Given the description of an element on the screen output the (x, y) to click on. 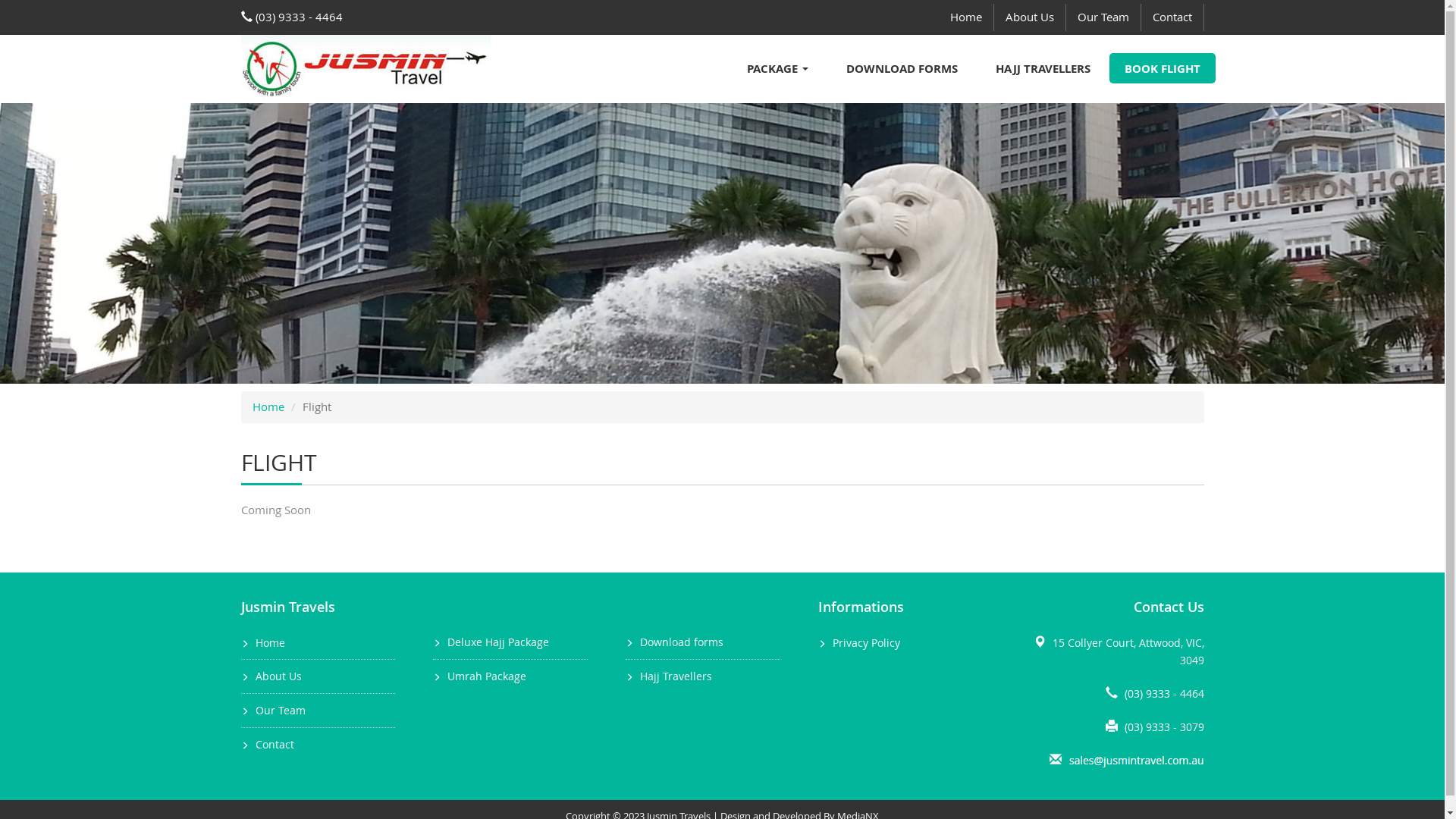
(03) 9333 - 4464 Element type: text (291, 16)
DOWNLOAD FORMS Element type: text (900, 67)
Home Element type: text (269, 642)
Contact Element type: text (1171, 17)
Umrah Package Element type: text (486, 675)
Our Team Element type: text (1103, 17)
(03) 9333 - 4464 Element type: text (1163, 693)
Our Team Element type: text (279, 709)
Home Element type: text (267, 406)
Deluxe Hajj Package Element type: text (498, 641)
Privacy Policy Element type: text (866, 642)
HAJJ TRAVELLERS Element type: text (1042, 67)
BOOK FLIGHT Element type: text (1161, 68)
About Us Element type: text (277, 675)
Contact Element type: text (273, 744)
Hajj Travellers Element type: text (676, 675)
Home Element type: text (966, 17)
About Us Element type: text (1029, 17)
Download forms Element type: text (681, 641)
PACKAGE Element type: text (777, 67)
